Given the description of an element on the screen output the (x, y) to click on. 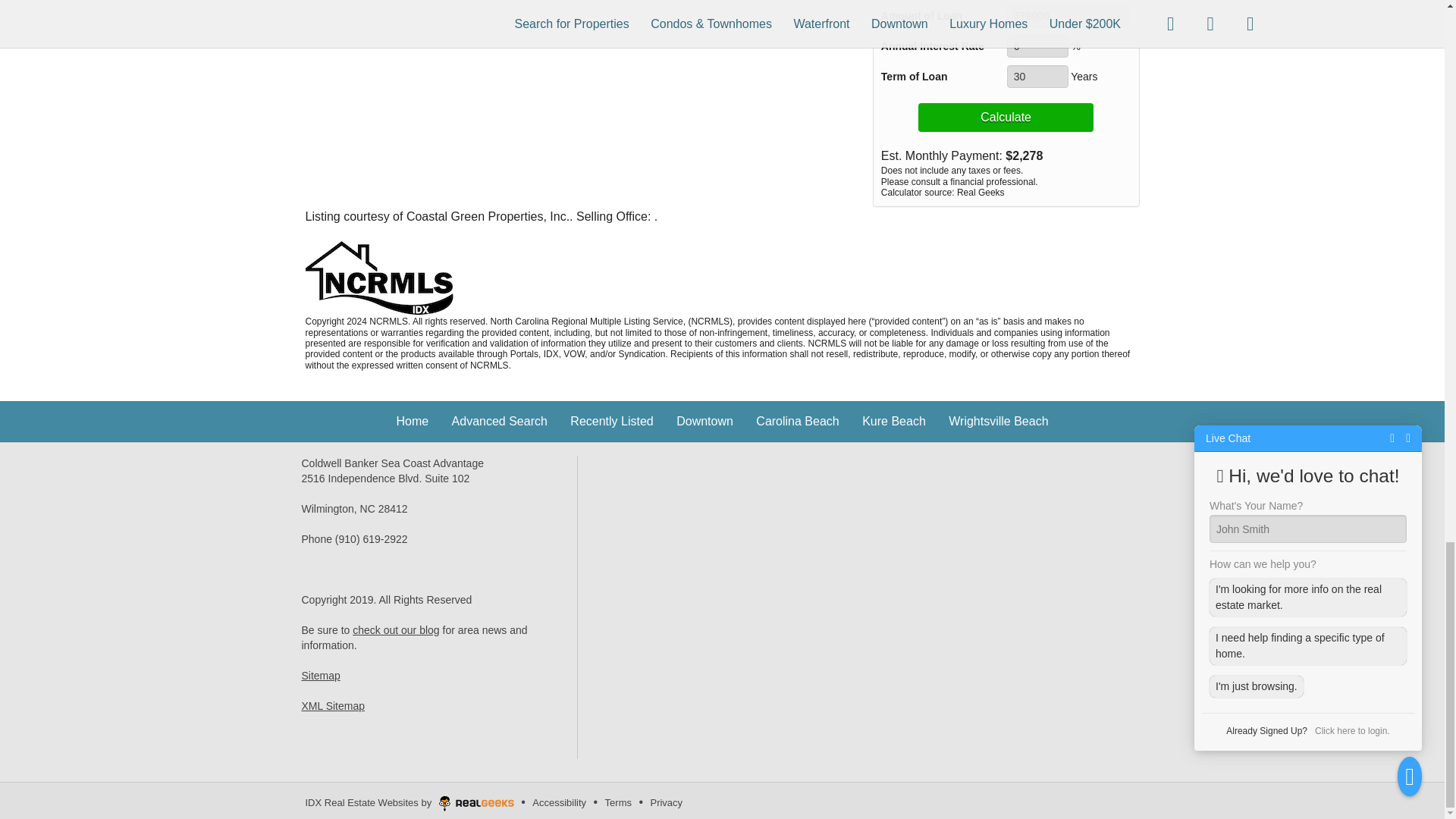
379900 (1068, 15)
6 (1037, 46)
30 (1037, 76)
